Given the description of an element on the screen output the (x, y) to click on. 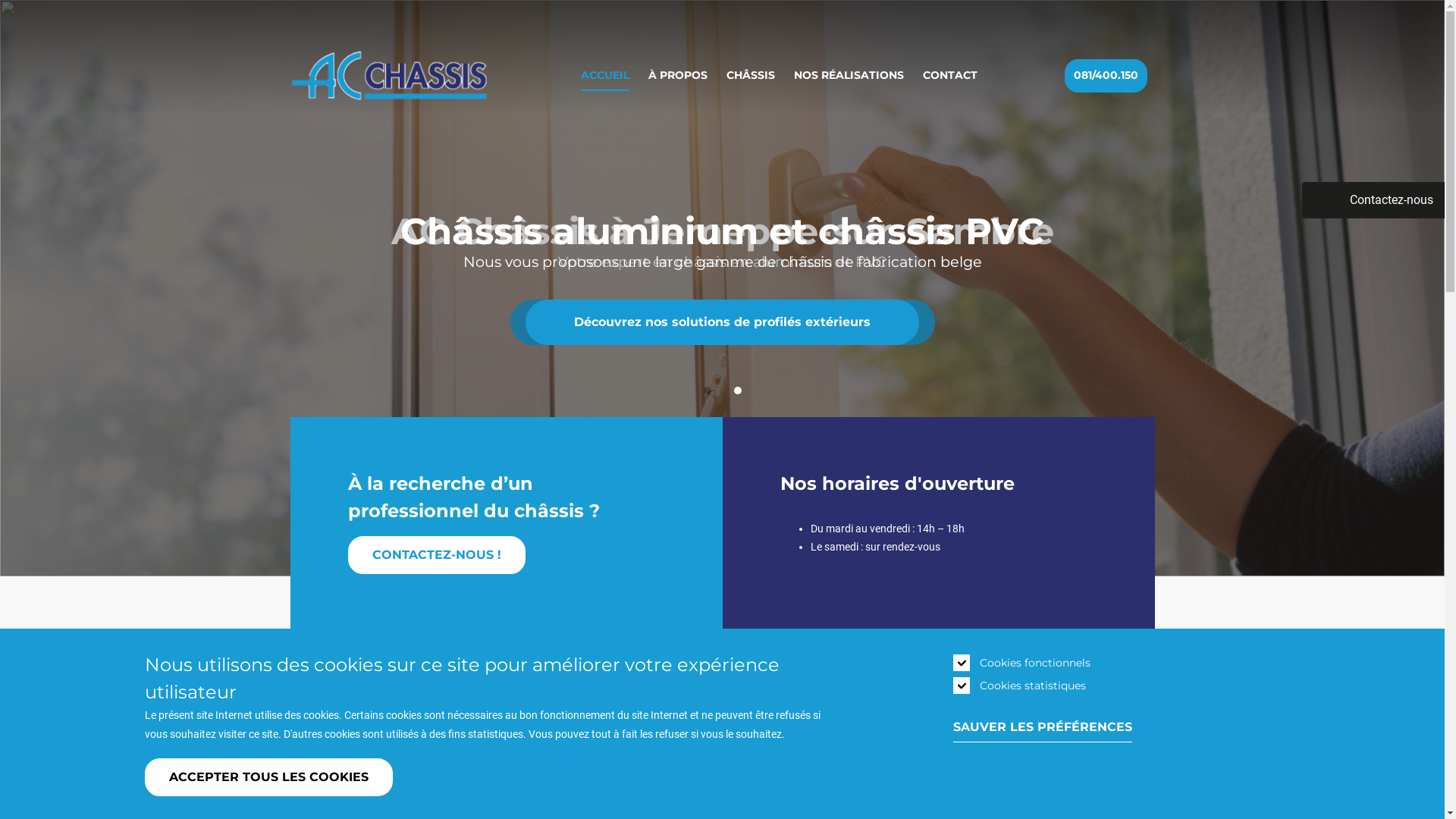
ACCEPTER TOUS LES COOKIES Element type: text (268, 777)
Contactez-nous Element type: text (1373, 200)
CONTACT Element type: text (949, 75)
CONTACTEZ-NOUS ! Element type: text (436, 555)
081/400.150 Element type: text (1105, 75)
RETIRER LE CONSENTEMENT Element type: text (416, 769)
ACCUEIL Element type: text (604, 75)
